Given the description of an element on the screen output the (x, y) to click on. 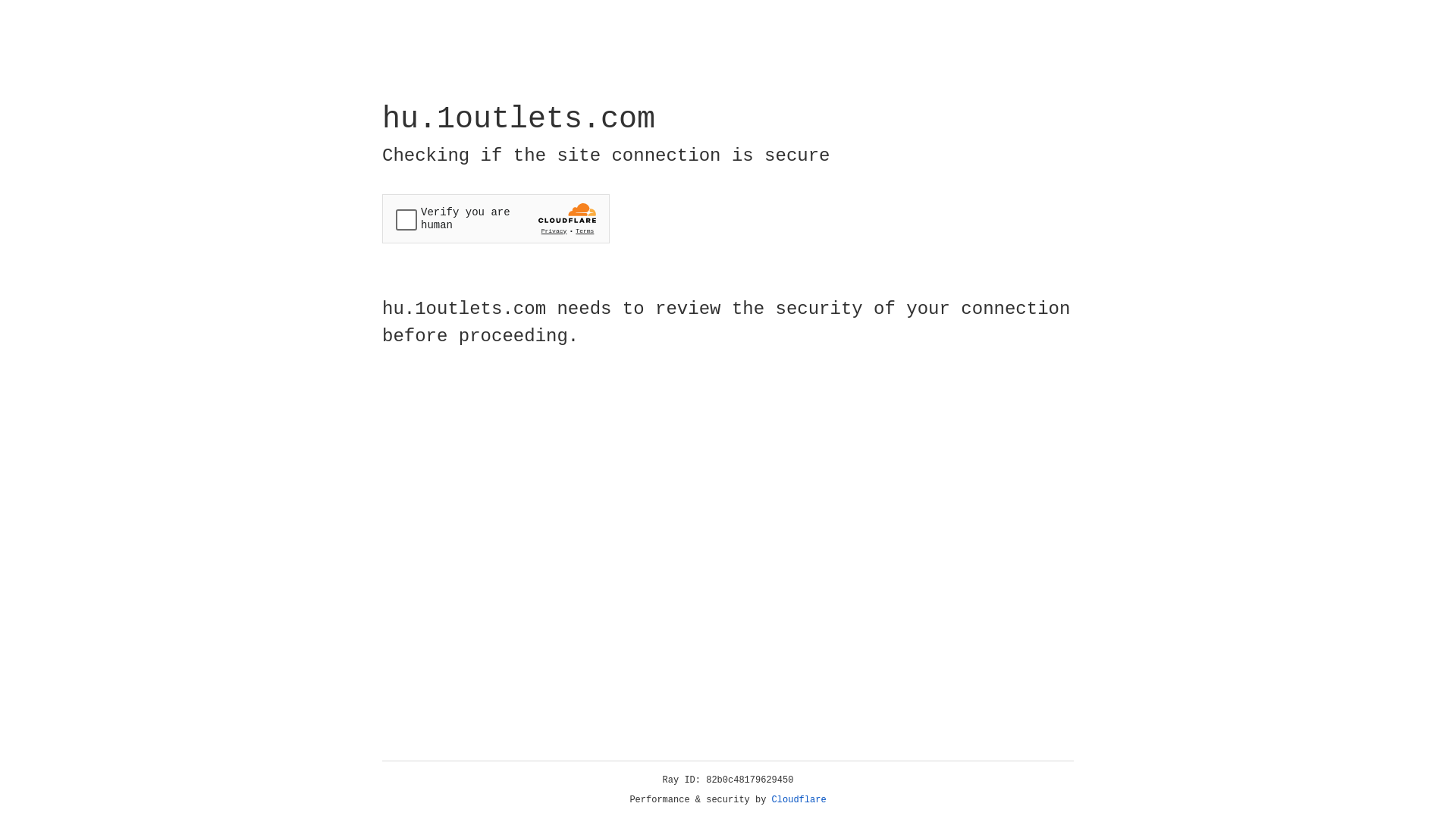
Cloudflare Element type: text (798, 799)
Widget containing a Cloudflare security challenge Element type: hover (495, 218)
